Given the description of an element on the screen output the (x, y) to click on. 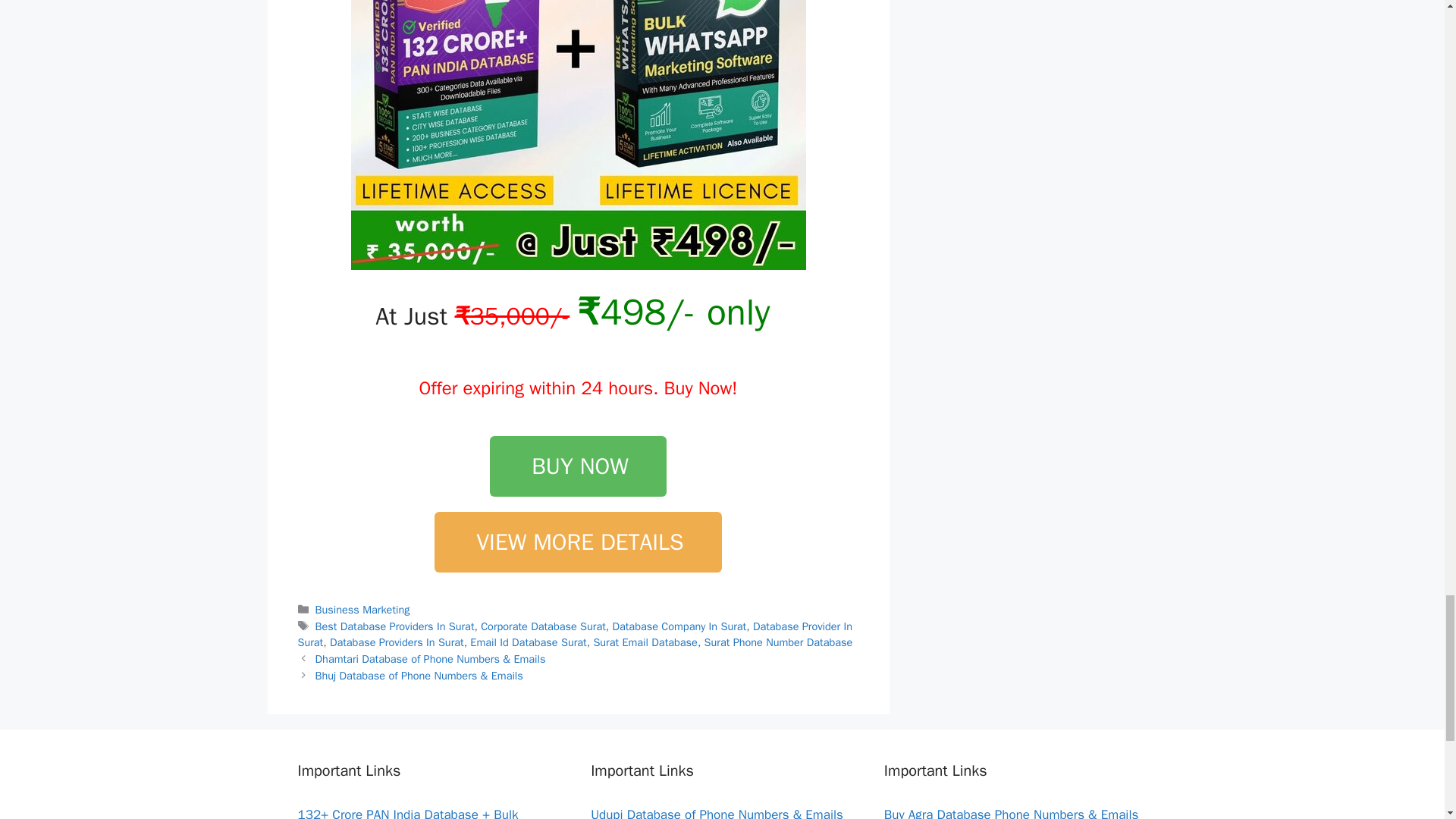
BUY NOW (577, 465)
Database Providers In Surat (397, 642)
Surat Email Database (644, 642)
Surat Phone Number Database (778, 642)
Email Id Database Surat (528, 642)
Best Database Providers In Surat (394, 626)
Corporate Database Surat (542, 626)
Database Provider In Surat (574, 634)
VIEW MORE DETAILS (576, 541)
Business Marketing (362, 609)
Database Company In Surat (678, 626)
